Given the description of an element on the screen output the (x, y) to click on. 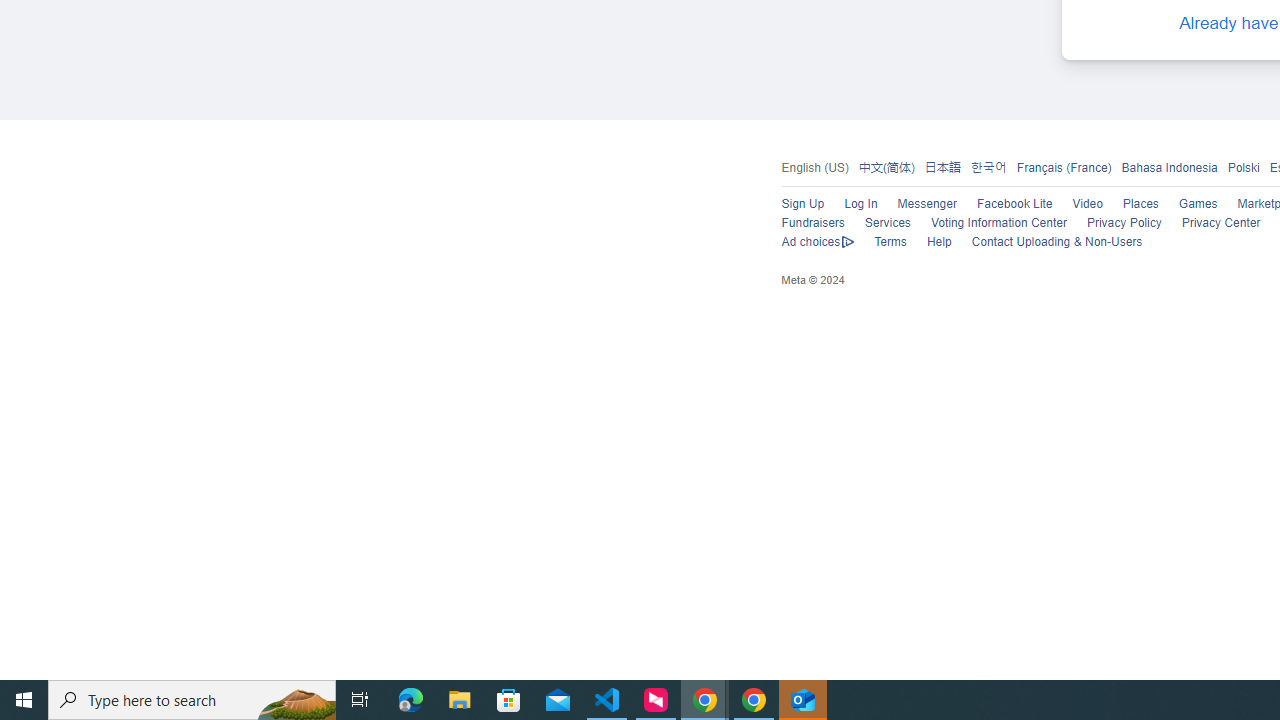
Games (1197, 204)
Video (1087, 204)
Privacy Center (1220, 223)
Sign Up (802, 204)
Log In (860, 204)
